Given the description of an element on the screen output the (x, y) to click on. 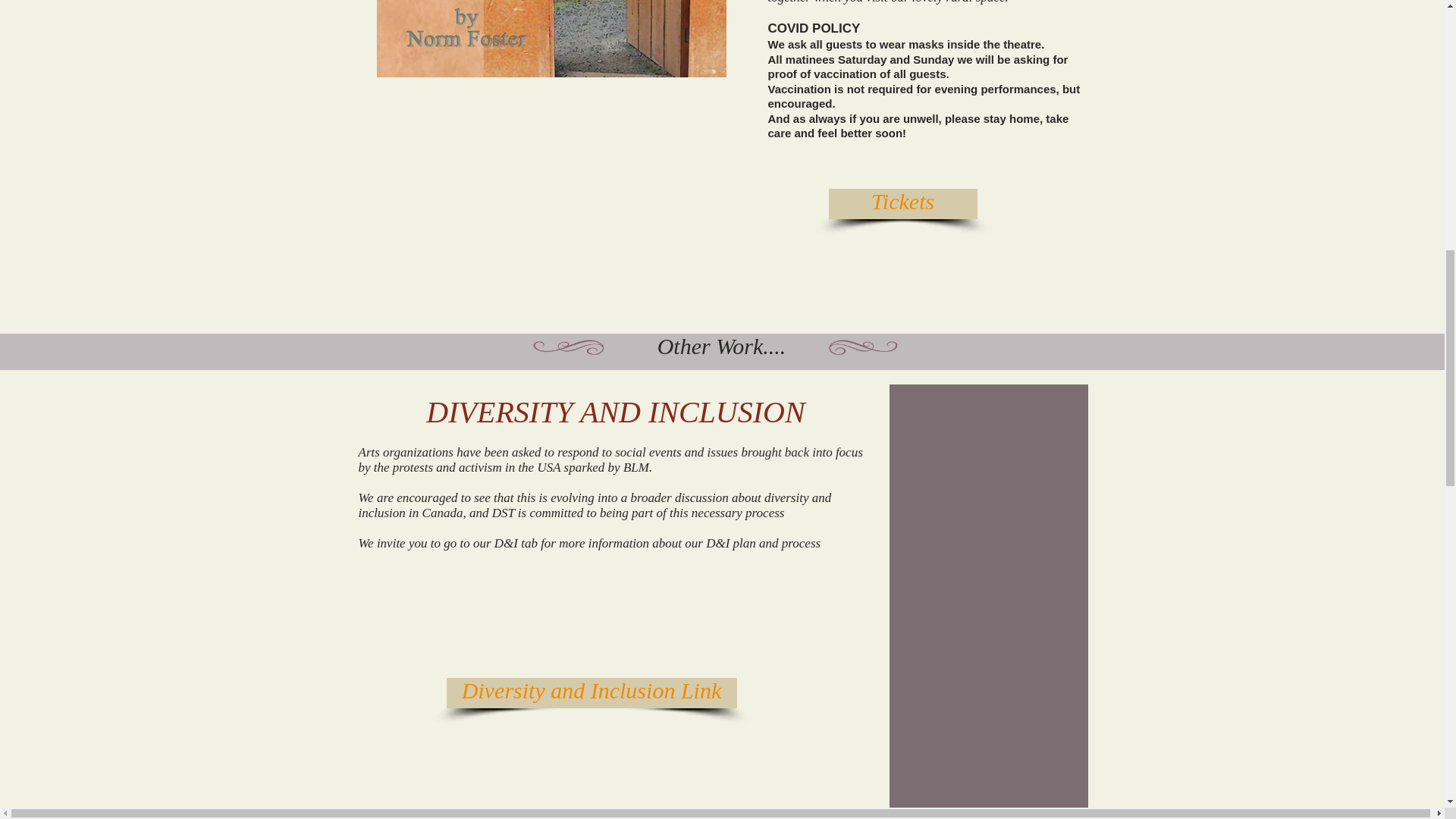
Pandemics Pratfalls and Prayers without  (550, 38)
Tickets (902, 204)
Diversity and Inclusion Link (590, 693)
